Given the description of an element on the screen output the (x, y) to click on. 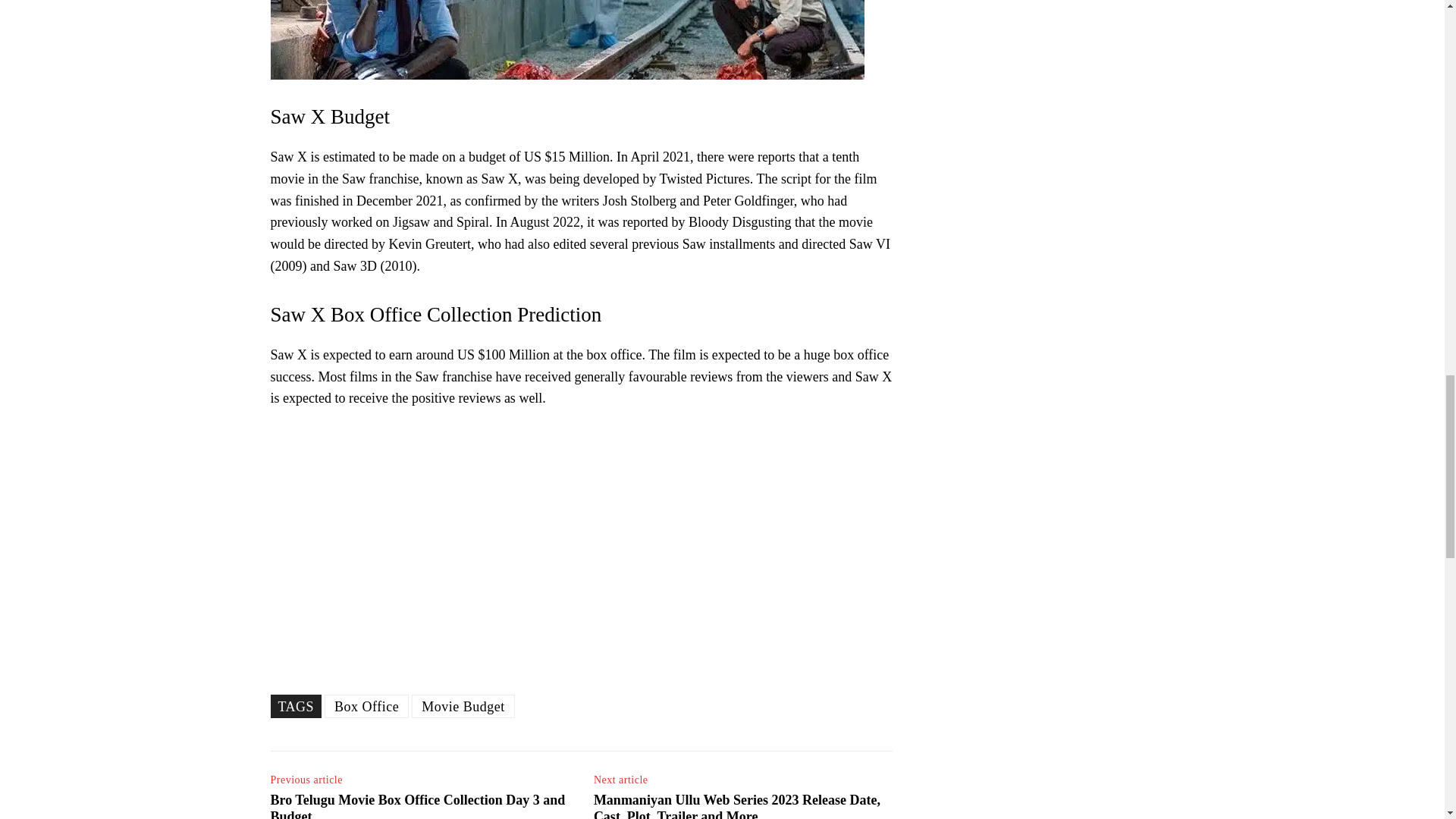
Advertisement (580, 535)
